Given the description of an element on the screen output the (x, y) to click on. 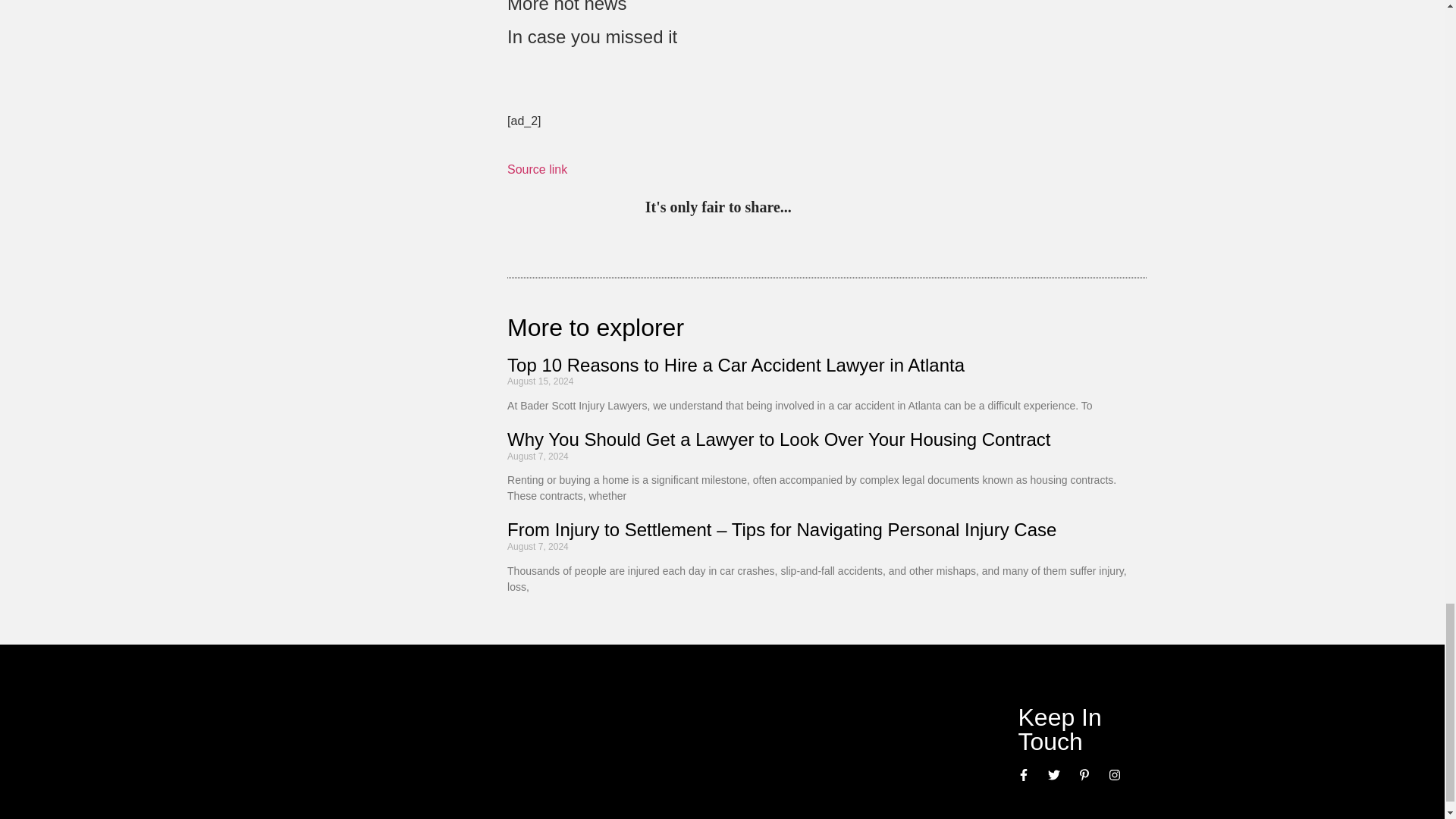
Source link (536, 169)
pinterest (807, 207)
email (962, 207)
linkedin (869, 207)
Top 10 Reasons to Hire a Car Accident Lawyer in Atlanta (734, 364)
google (900, 207)
print (993, 207)
facebook (931, 207)
twitter (837, 207)
